Given the description of an element on the screen output the (x, y) to click on. 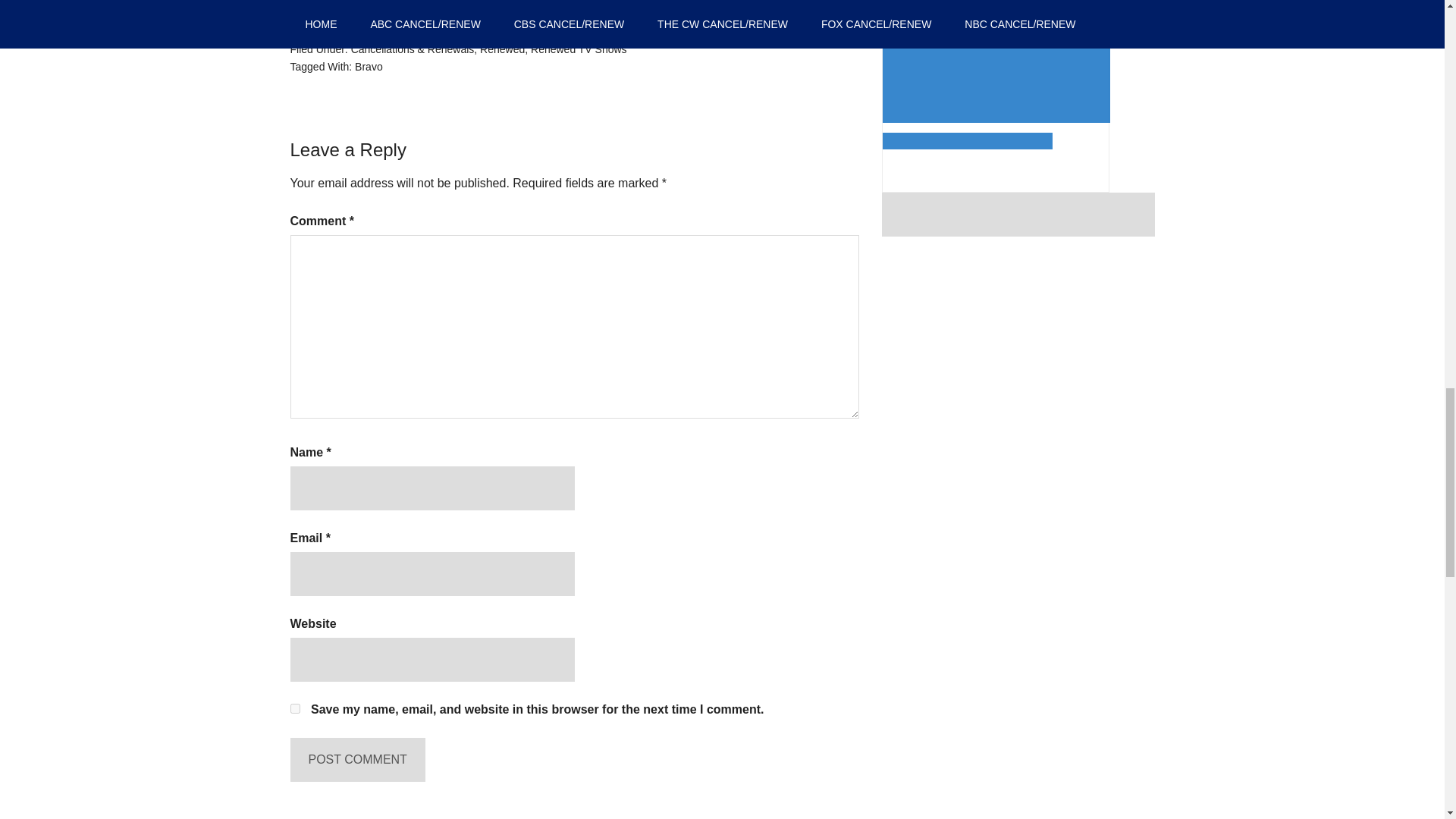
Renewed TV Shows (579, 49)
Post Comment (357, 759)
Bravo (368, 66)
Post Comment (357, 759)
yes (294, 708)
Renewed (502, 49)
